Given the description of an element on the screen output the (x, y) to click on. 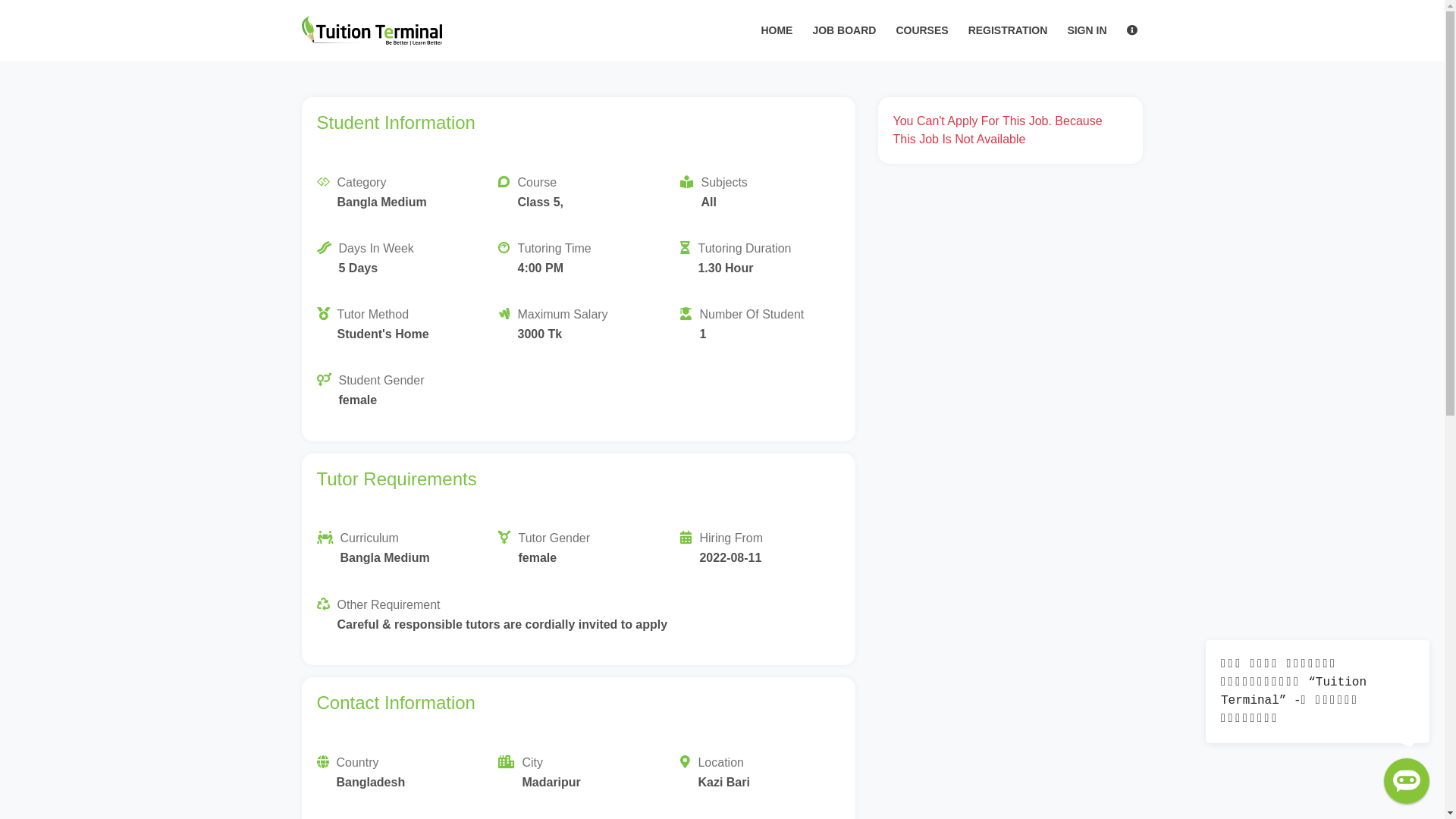
HOME Element type: text (776, 30)
JOB BOARD Element type: text (843, 30)
SIGN IN Element type: text (1086, 30)
REGISTRATION Element type: text (1008, 30)
COURSES Element type: text (921, 30)
